Given the description of an element on the screen output the (x, y) to click on. 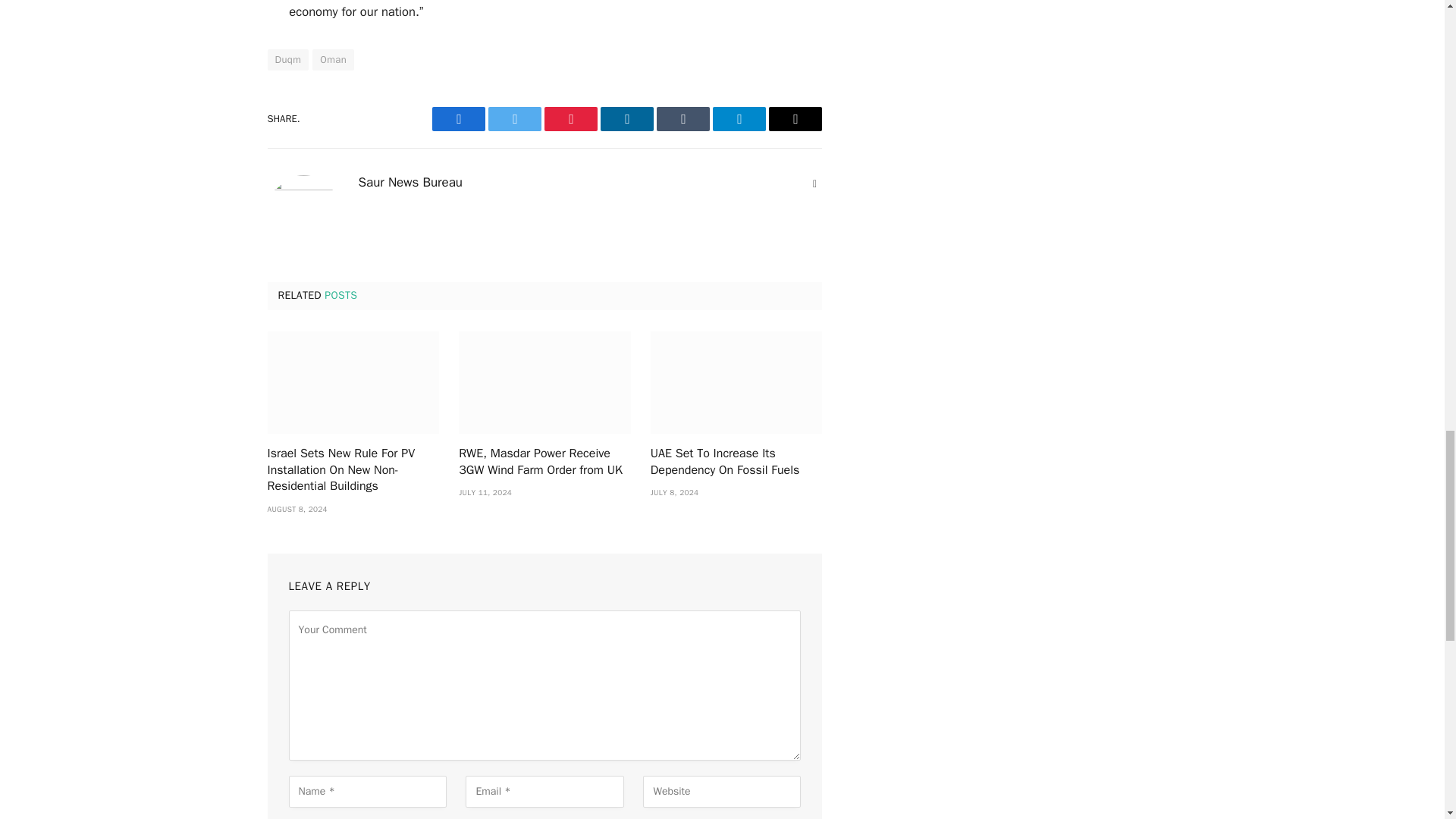
Share via Email (795, 119)
Share on Facebook (458, 119)
Share on LinkedIn (626, 119)
Share on Tumblr (683, 119)
Share on Telegram (739, 119)
Share on Pinterest (570, 119)
